Given the description of an element on the screen output the (x, y) to click on. 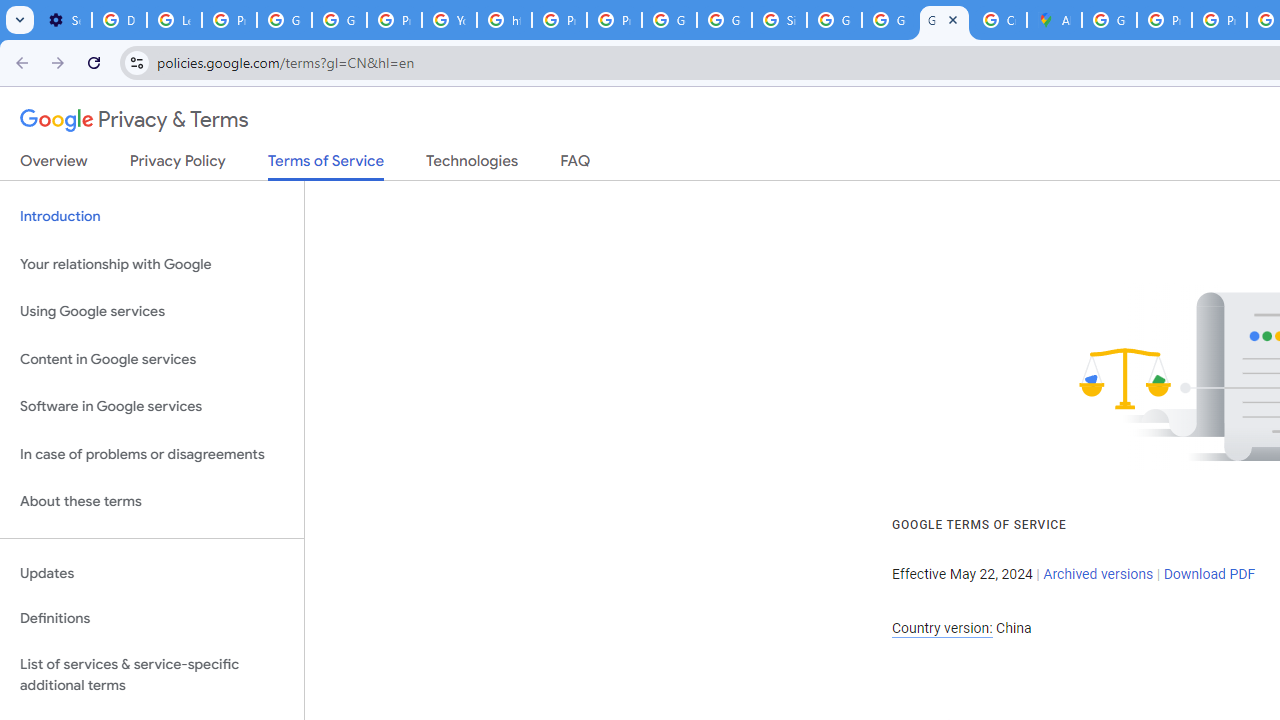
Definitions (152, 619)
Download PDF (1209, 574)
YouTube (449, 20)
Using Google services (152, 312)
Archived versions (1098, 574)
Content in Google services (152, 358)
Privacy Help Center - Policies Help (559, 20)
